Given the description of an element on the screen output the (x, y) to click on. 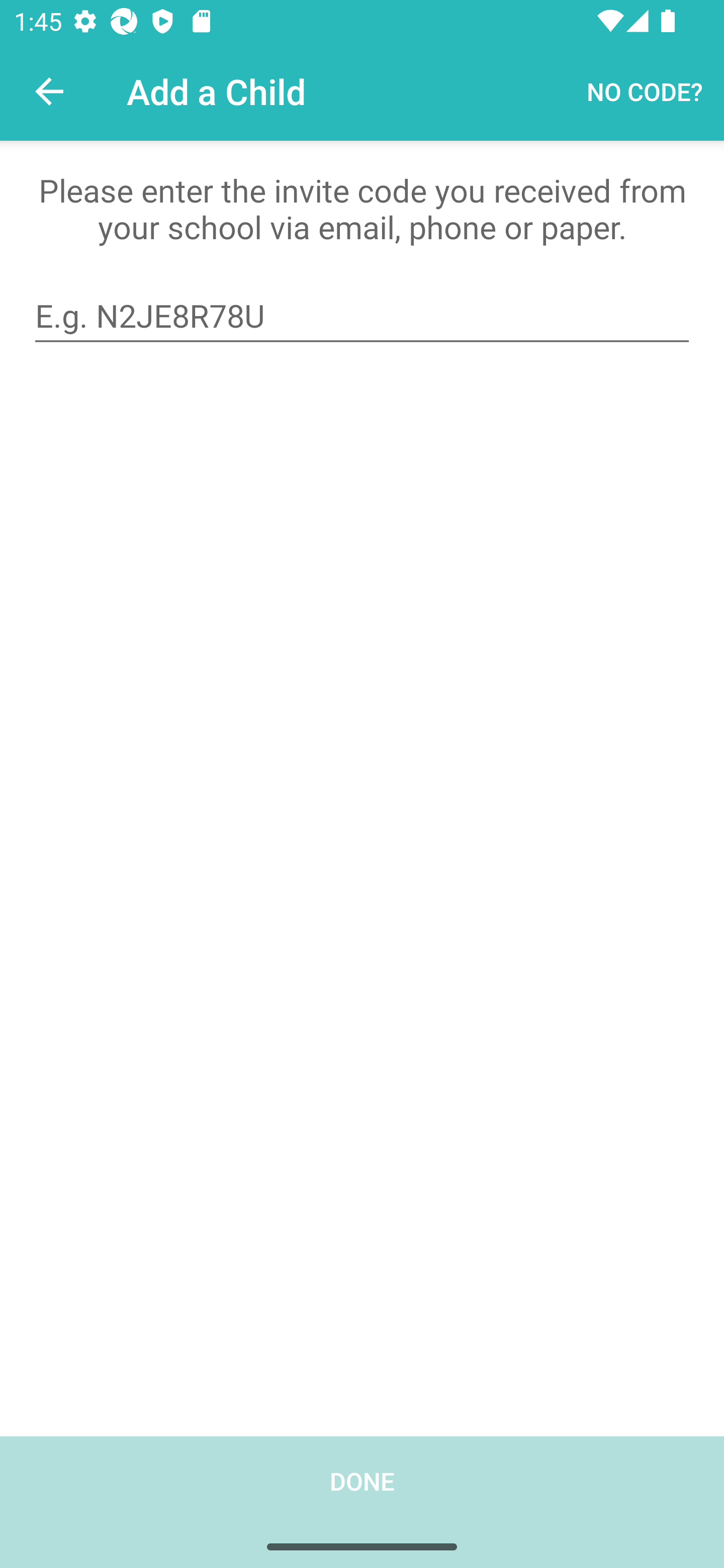
Navigate up (49, 91)
NO CODE? (644, 90)
E.g. N2JE8R78U (361, 315)
DONE (362, 1502)
